Given the description of an element on the screen output the (x, y) to click on. 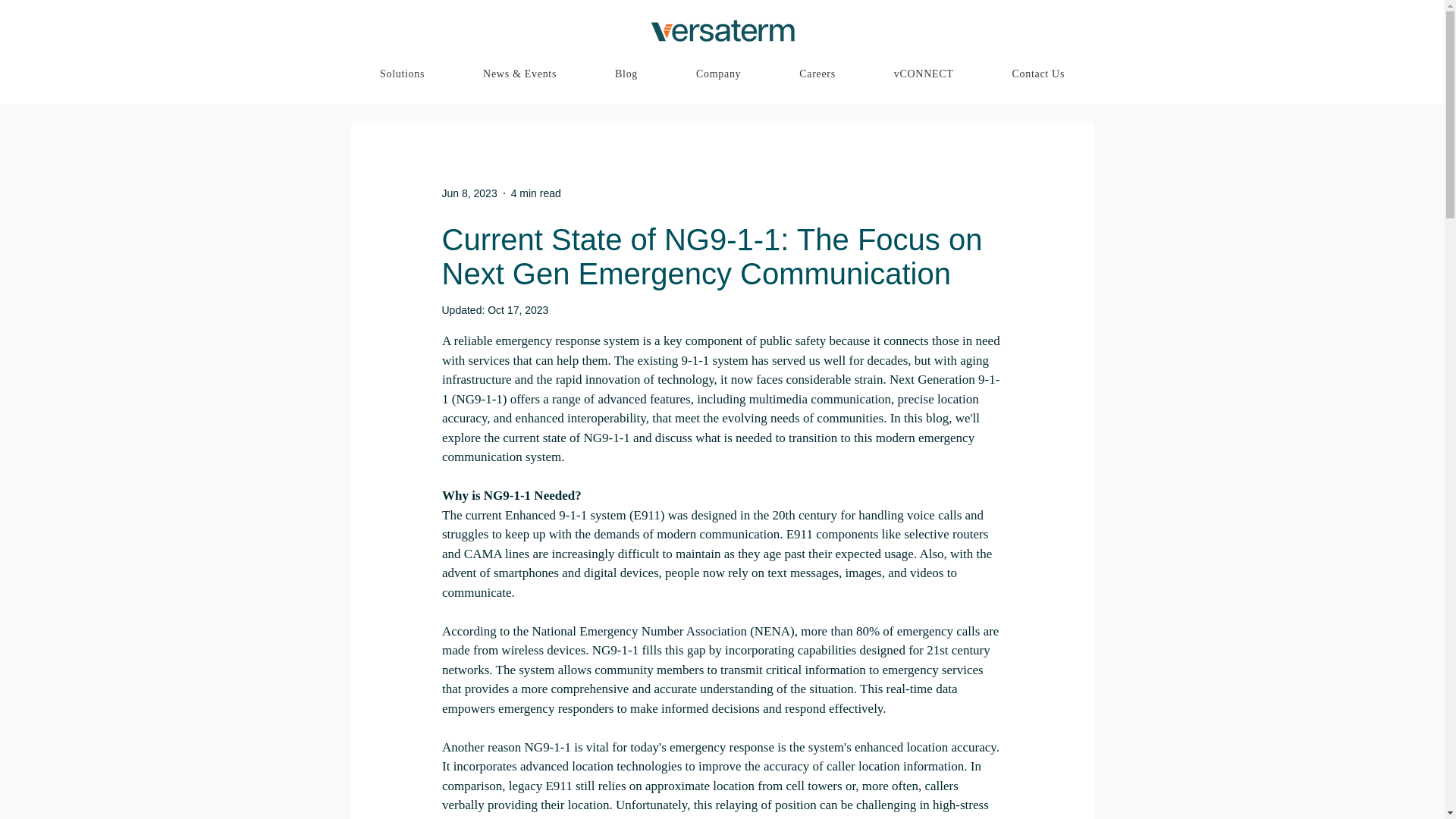
Oct 17, 2023 (517, 309)
4 min read (535, 192)
Jun 8, 2023 (468, 192)
Blog (626, 73)
